Given the description of an element on the screen output the (x, y) to click on. 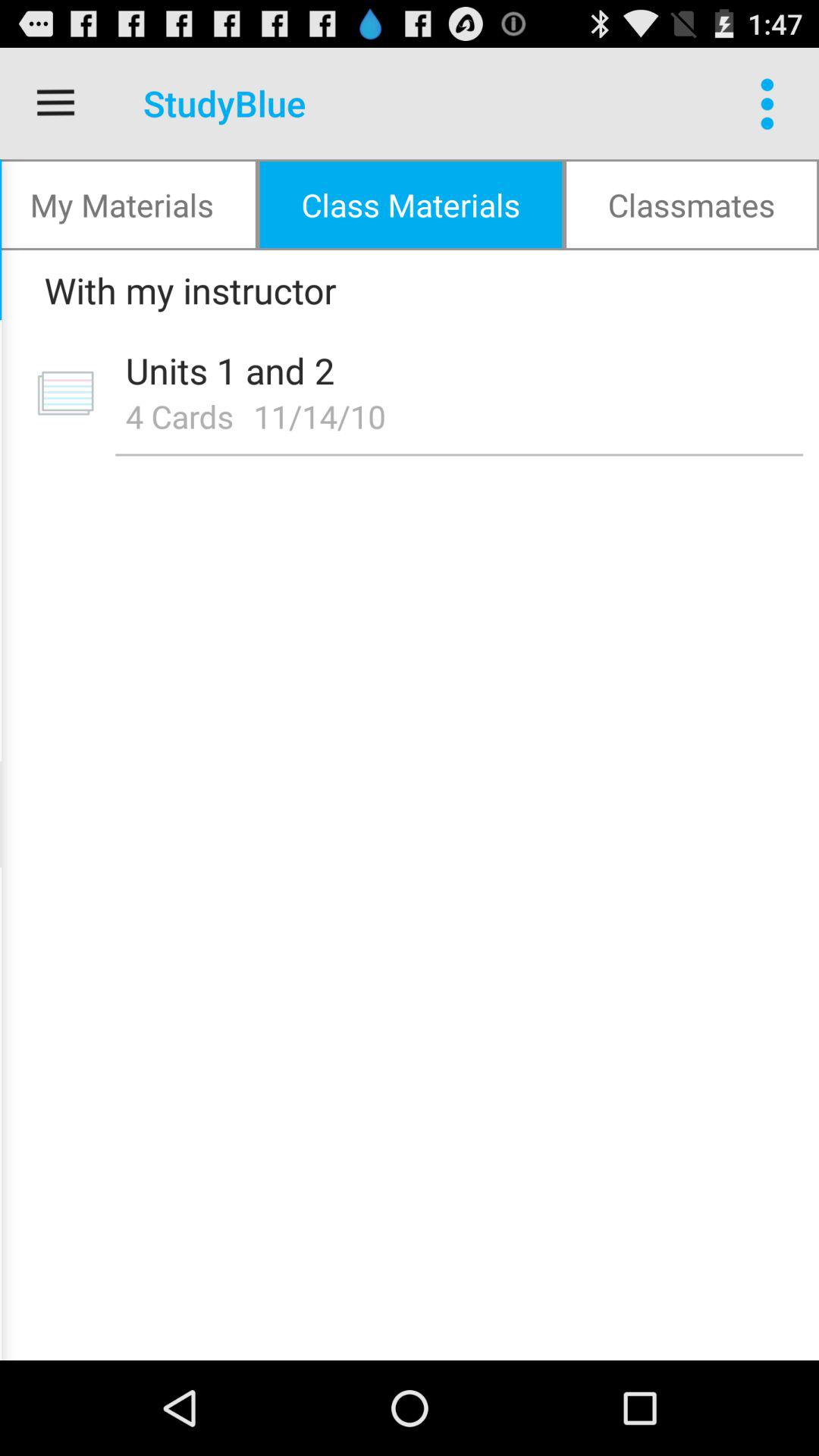
click icon above the units 1 and (404, 290)
